Given the description of an element on the screen output the (x, y) to click on. 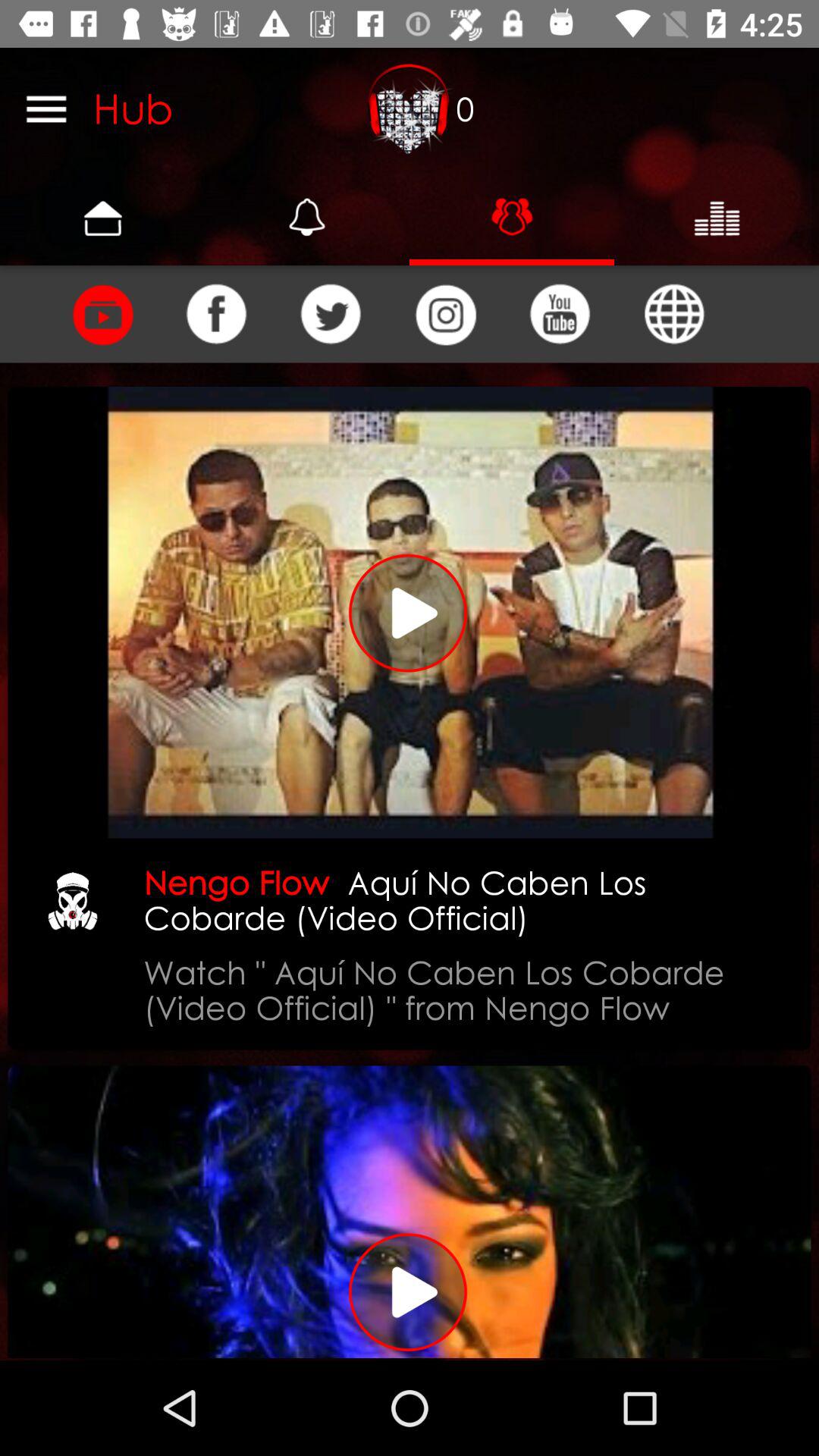
open video (409, 1211)
